Given the description of an element on the screen output the (x, y) to click on. 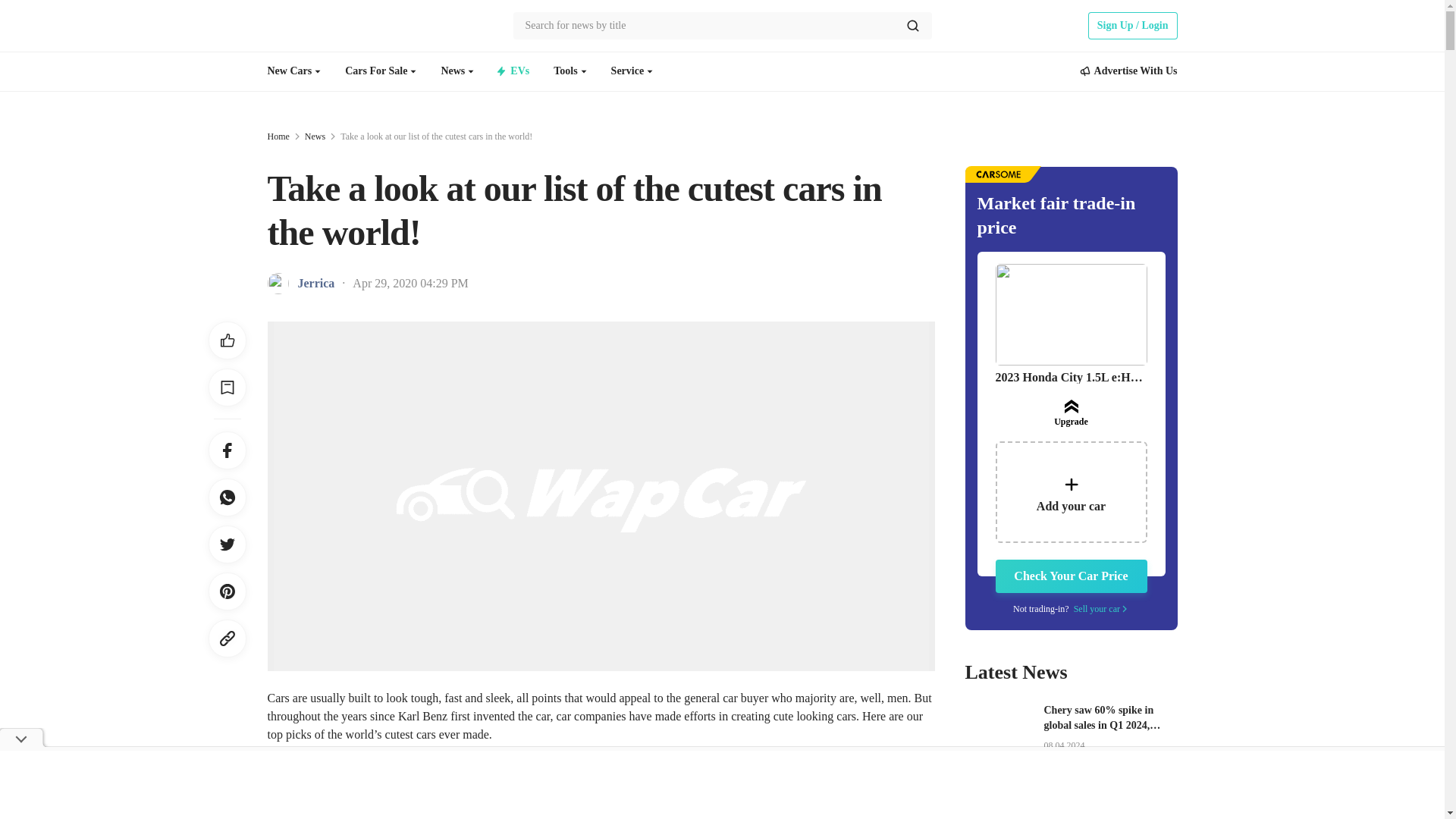
News (452, 70)
New Cars (288, 70)
EVs (520, 70)
Cars For Sale (376, 70)
Tools (564, 70)
